Given the description of an element on the screen output the (x, y) to click on. 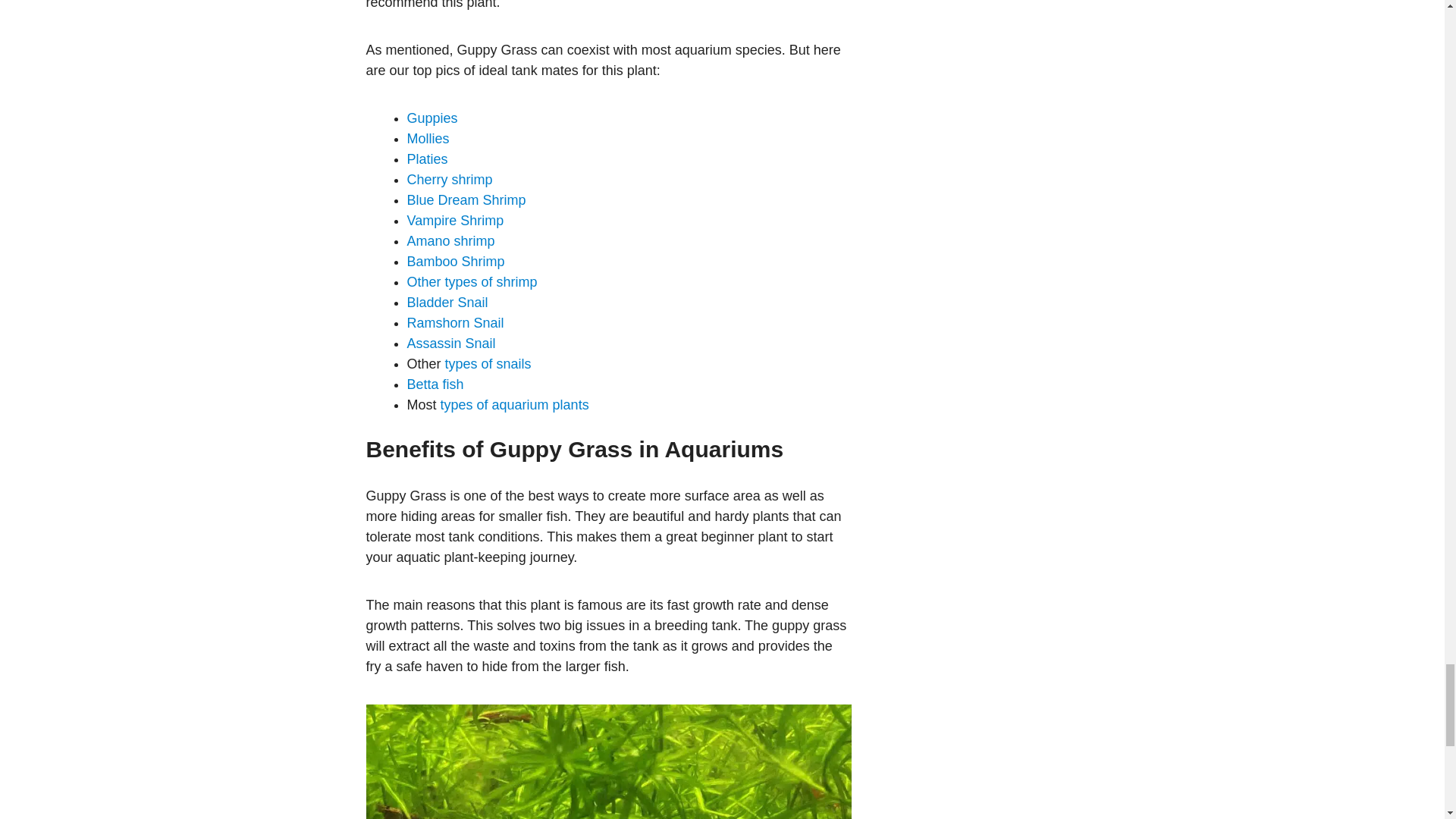
Mollies (427, 138)
Other types of shrimp (471, 281)
Amano shrimp (450, 240)
Guppies  (433, 118)
Cherry shrimp (449, 179)
Bamboo Shrimp (454, 261)
Blue Dream Shrimp (465, 200)
Platies (426, 159)
Vampire Shrimp (454, 220)
